Given the description of an element on the screen output the (x, y) to click on. 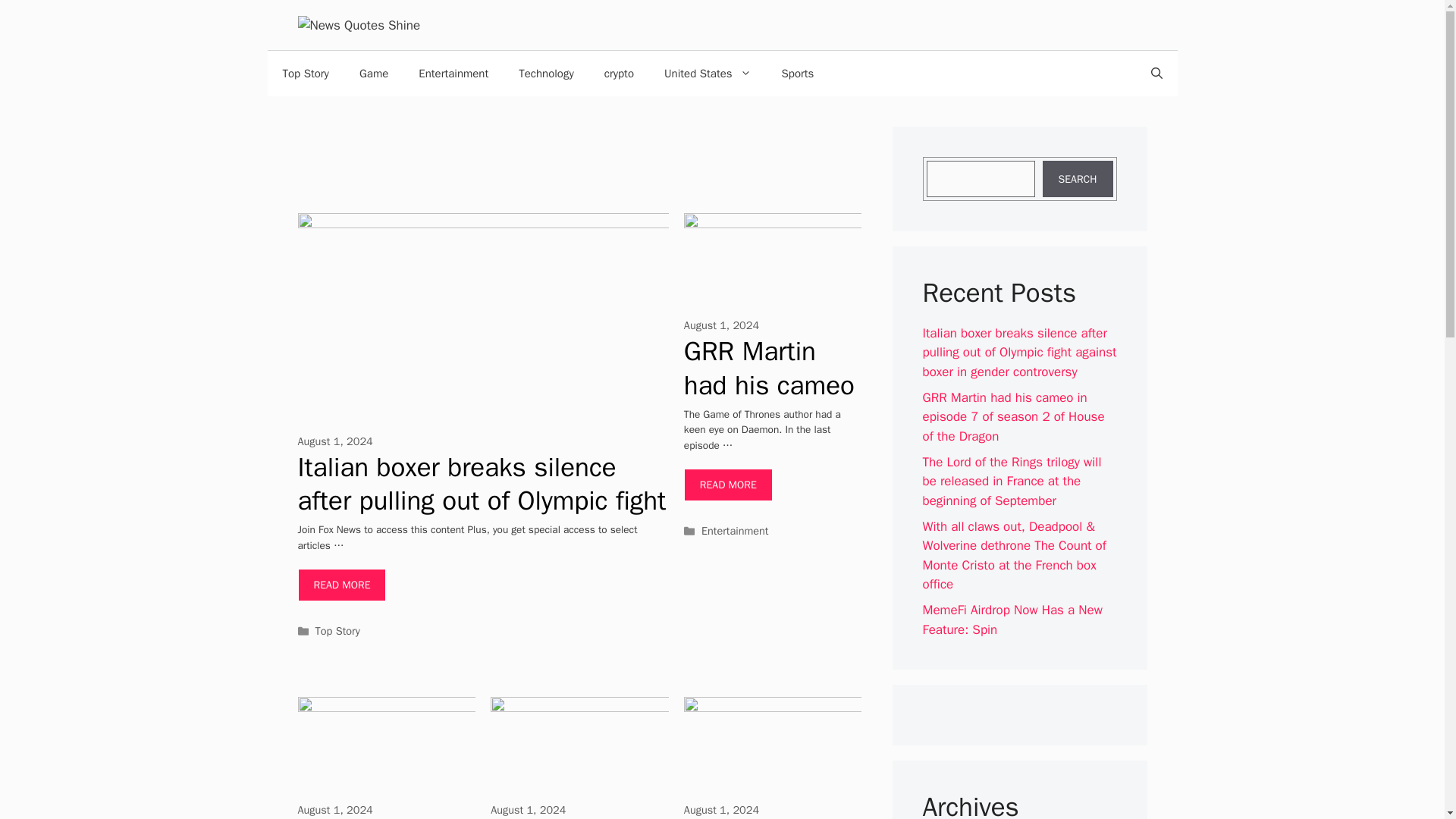
Technology (546, 73)
Game (373, 73)
Entertainment (734, 530)
READ MORE (728, 484)
Entertainment (453, 73)
READ MORE (341, 584)
Top Story (304, 73)
Top Story (337, 631)
United States (708, 73)
Sports (798, 73)
crypto (619, 73)
